Given the description of an element on the screen output the (x, y) to click on. 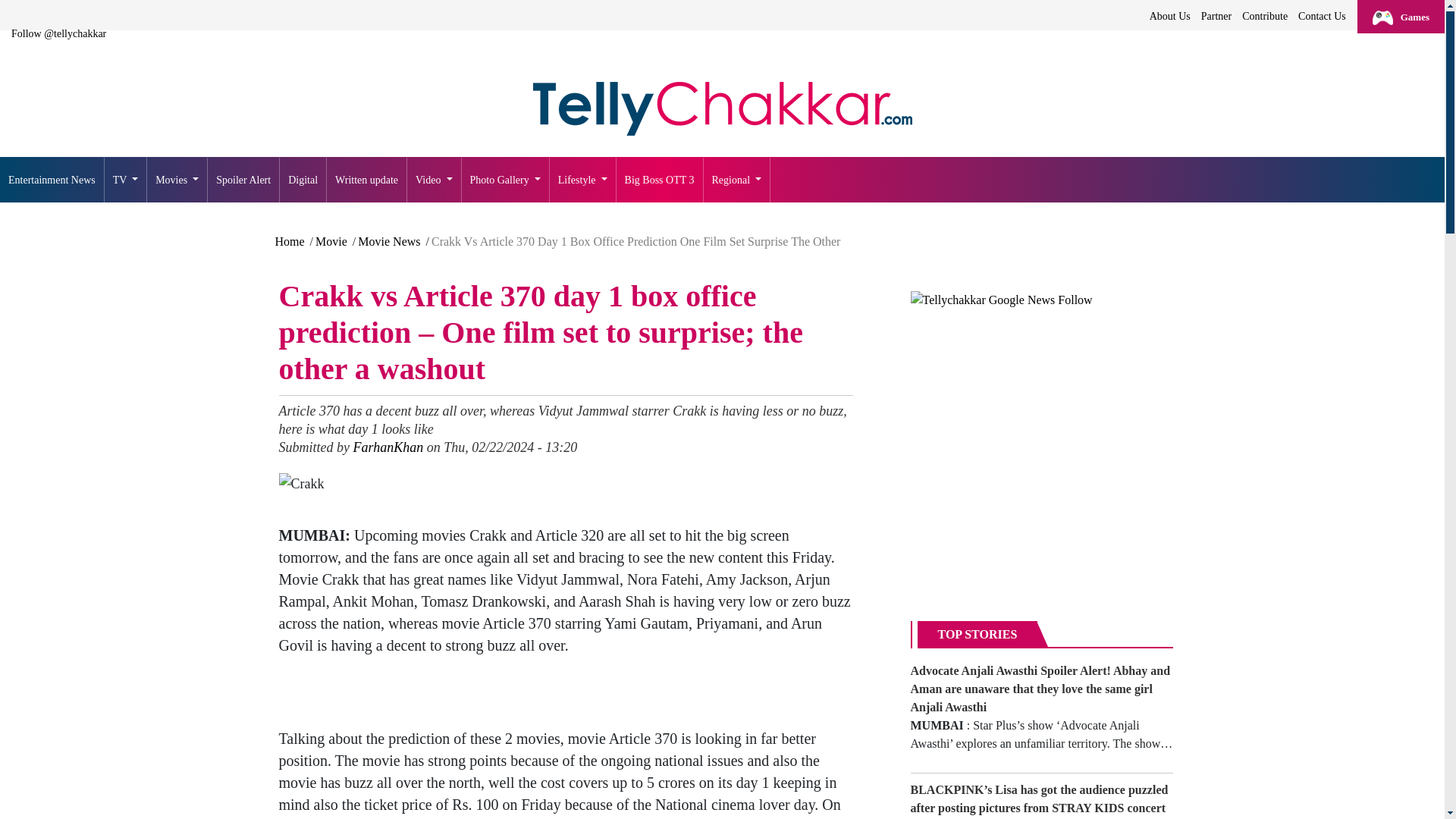
Crakk (301, 483)
Movies (177, 180)
Video (434, 180)
Home (721, 108)
Games (1400, 17)
About Us (1169, 16)
Partner (1215, 16)
Contact Us (1321, 16)
Photo Gallery (505, 180)
